Given the description of an element on the screen output the (x, y) to click on. 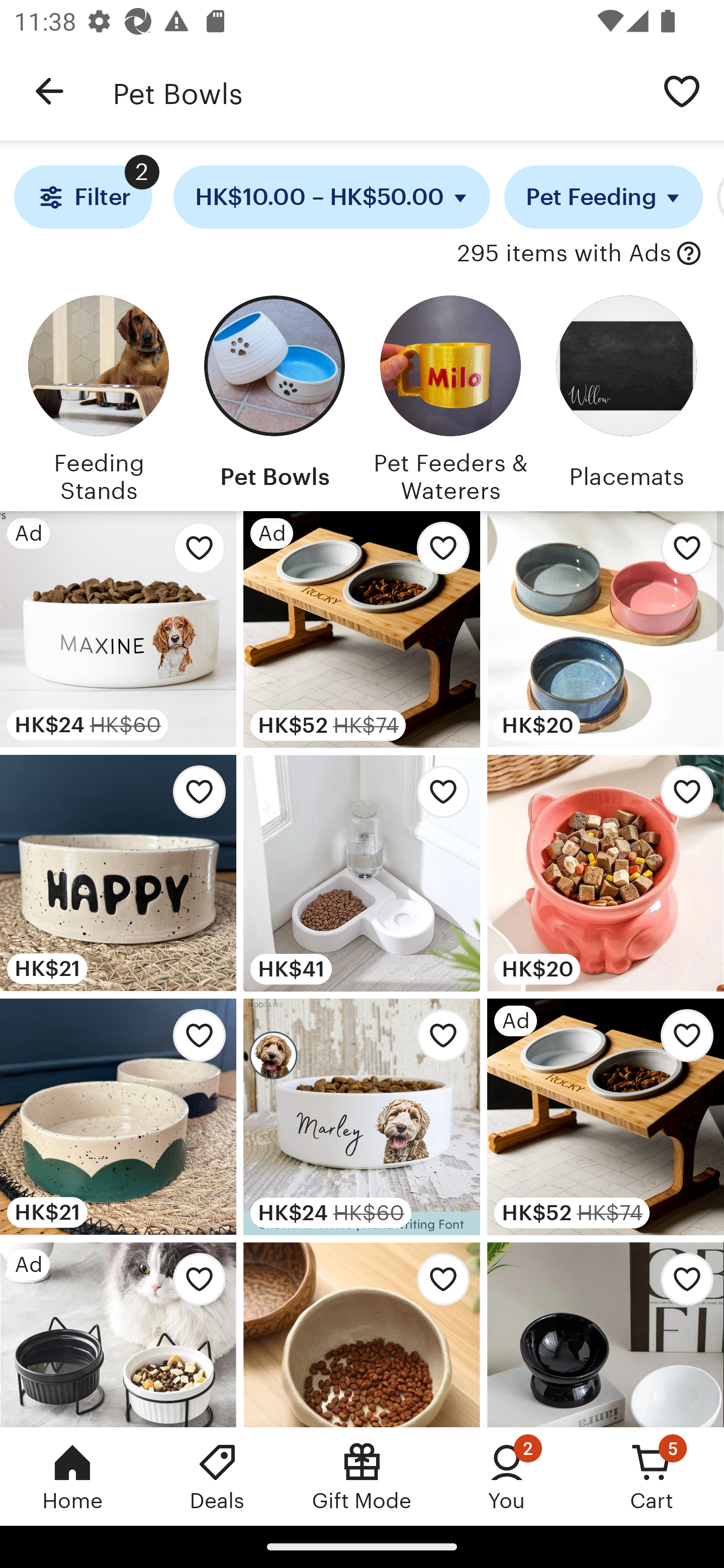
Navigate up (49, 91)
Save search (681, 90)
Pet Bowls (375, 91)
Filter (82, 197)
HK$10.00 – HK$50.00 (331, 197)
Pet Feeding (603, 197)
295 items with Ads (563, 253)
with Ads (688, 253)
Feeding Stands (97, 395)
Pet Bowls (273, 395)
Pet Feeders & Waterers (449, 395)
Placemats (625, 395)
Deals (216, 1475)
Gift Mode (361, 1475)
You, 2 new notifications You (506, 1475)
Cart, 5 new notifications Cart (651, 1475)
